Given the description of an element on the screen output the (x, y) to click on. 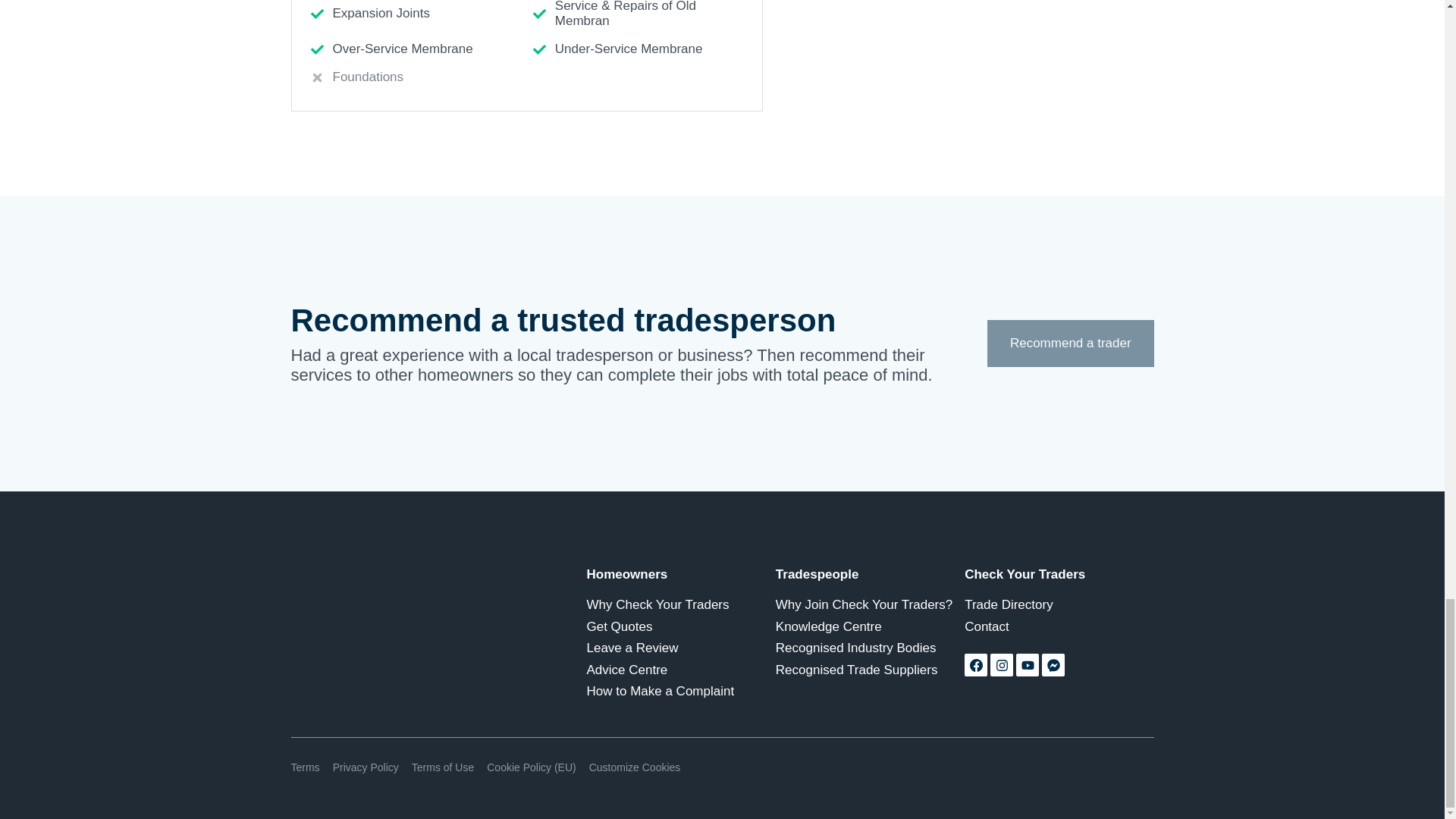
Recommend a trader (1070, 343)
Recognised Trade Suppliers (869, 669)
Recognised Industry Bodies (869, 648)
Trade Directory (1058, 604)
How to Make a Complaint (681, 691)
Recommend a trader (1070, 342)
Leave a Review (681, 648)
Contact (1058, 626)
Knowledge Centre (869, 626)
Get Quotes (681, 626)
Advice Centre (681, 669)
Why Check Your Traders (681, 604)
Why Join Check Your Traders? (869, 604)
